Given the description of an element on the screen output the (x, y) to click on. 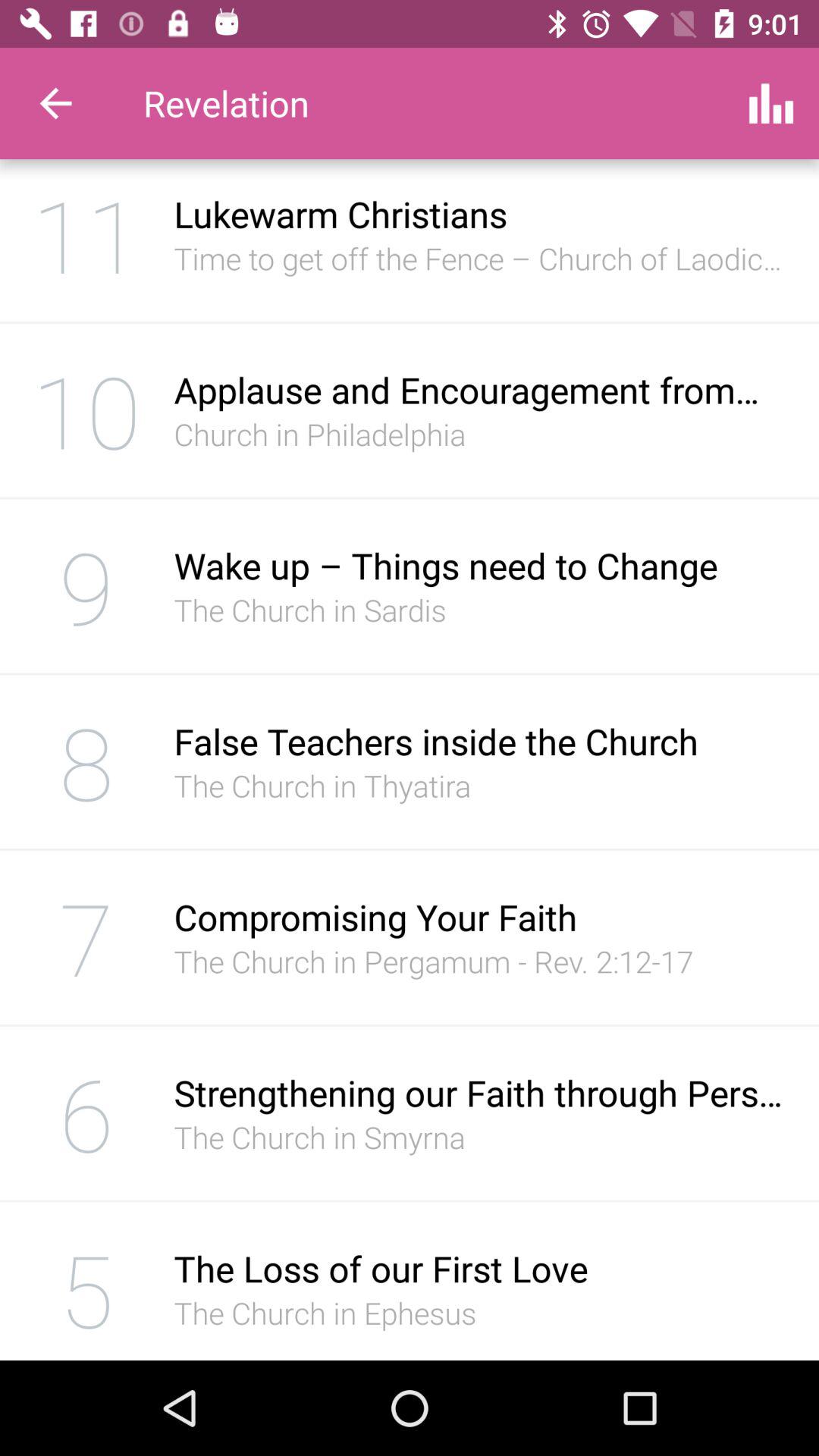
scroll until the 7 item (86, 937)
